Given the description of an element on the screen output the (x, y) to click on. 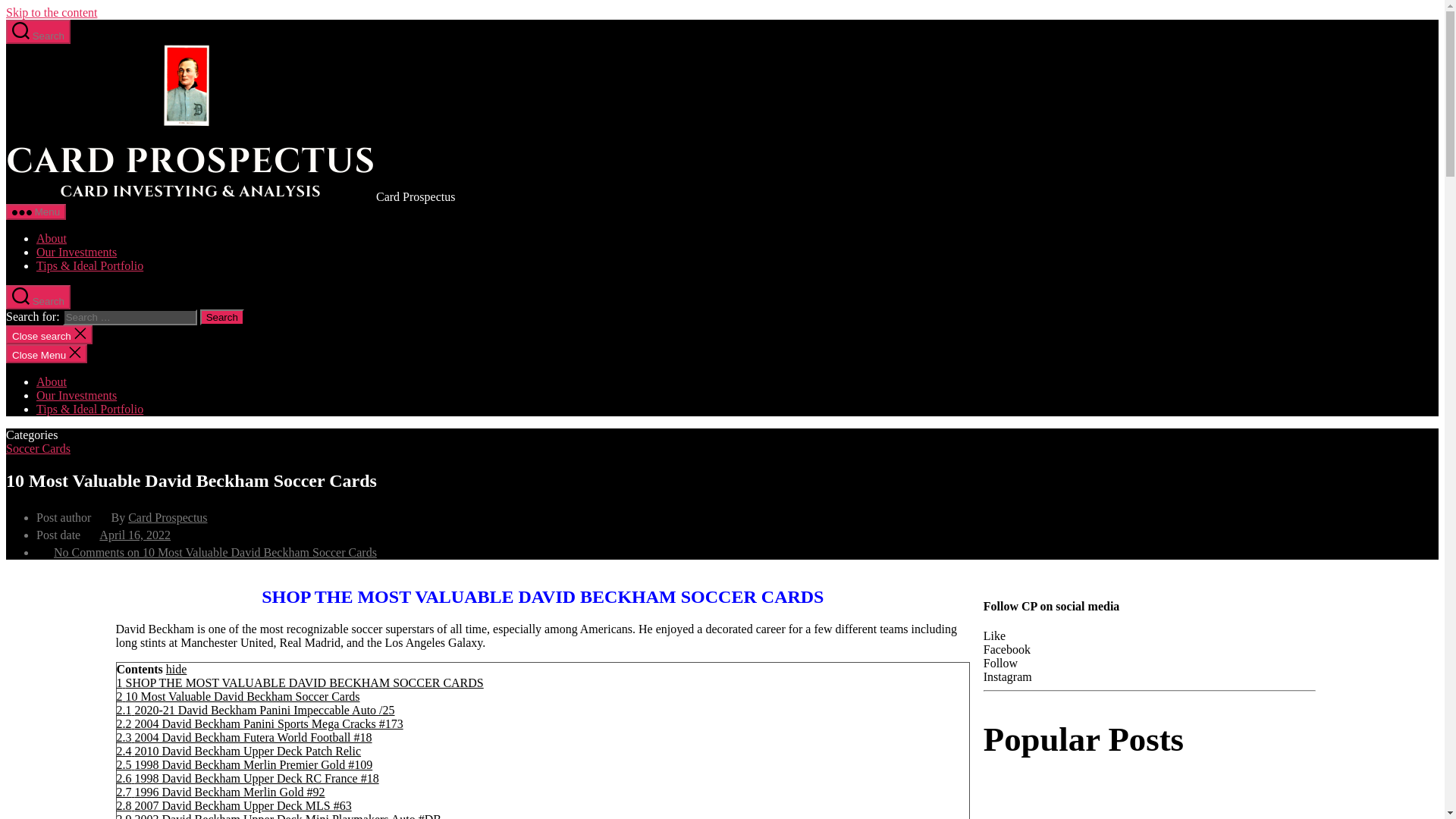
Our Investments (76, 251)
About (51, 237)
Skip to the content (51, 11)
Card Prospectus (167, 517)
1 SHOP THE MOST VALUABLE DAVID BECKHAM SOCCER CARDS (299, 682)
Search (222, 317)
2 10 Most Valuable David Beckham Soccer Cards (237, 696)
Menu (35, 211)
Soccer Cards (37, 448)
Close search (49, 334)
